Given the description of an element on the screen output the (x, y) to click on. 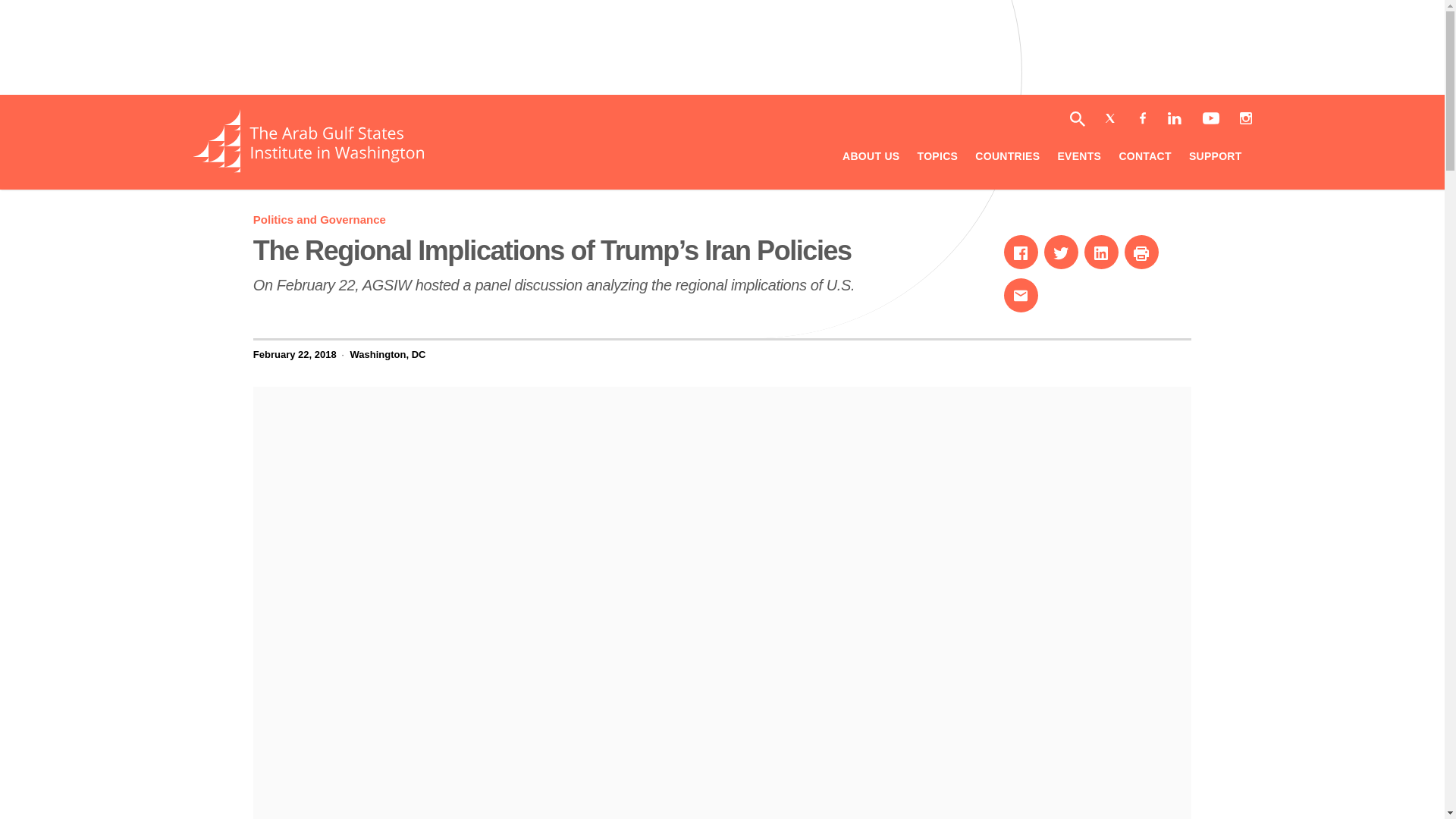
SUPPORT (1215, 157)
COUNTRIES (319, 219)
Click to share on Twitter (1007, 157)
The Arab Gulf States Institute in Washington (1060, 252)
Click to share on LinkedIn (307, 168)
Click to print (1101, 252)
ABOUT US (1141, 252)
TOPICS (871, 157)
